Given the description of an element on the screen output the (x, y) to click on. 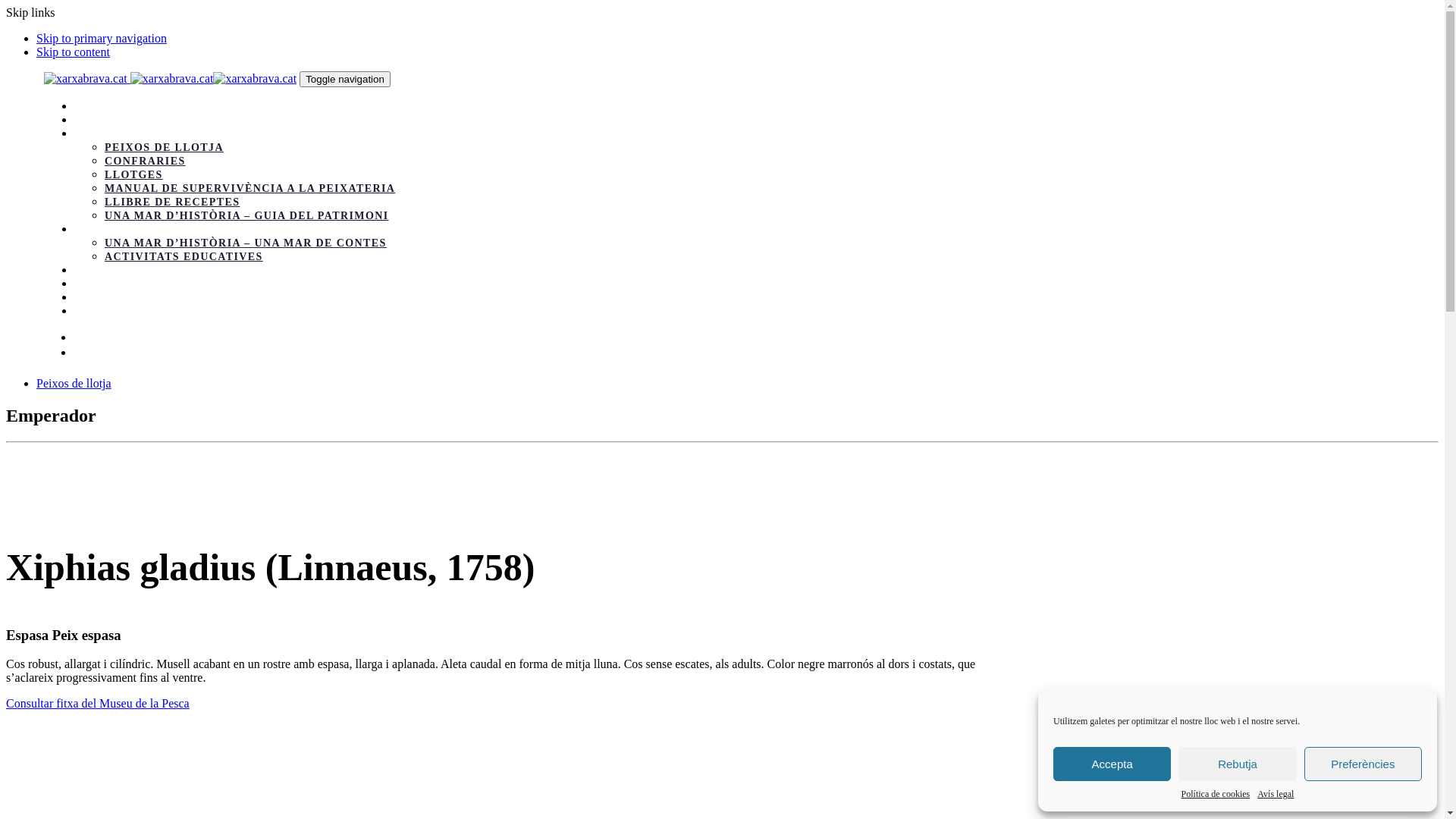
Consultar fitxa del Museu de la Pesca Element type: text (97, 702)
Peixos de llotja Element type: text (73, 382)
PEIXOS DE LLOTJA Element type: text (163, 147)
Rebutja Element type: text (1236, 763)
CONEIX Element type: text (98, 133)
LLIBRE DE RECEPTES Element type: text (171, 201)
Toggle navigation Element type: text (344, 79)
Skip to primary navigation Element type: text (101, 37)
LLOTGES Element type: text (133, 174)
HOME Element type: text (93, 106)
Skip to content Element type: text (72, 51)
SOBRE NOSALTRES Element type: text (132, 119)
ACTIVITATS EDUCATIVES Element type: text (183, 256)
CONFRARIES Element type: text (144, 160)
Accepta Element type: text (1111, 763)
VIU Element type: text (85, 283)
TASTA Element type: text (93, 270)
